Given the description of an element on the screen output the (x, y) to click on. 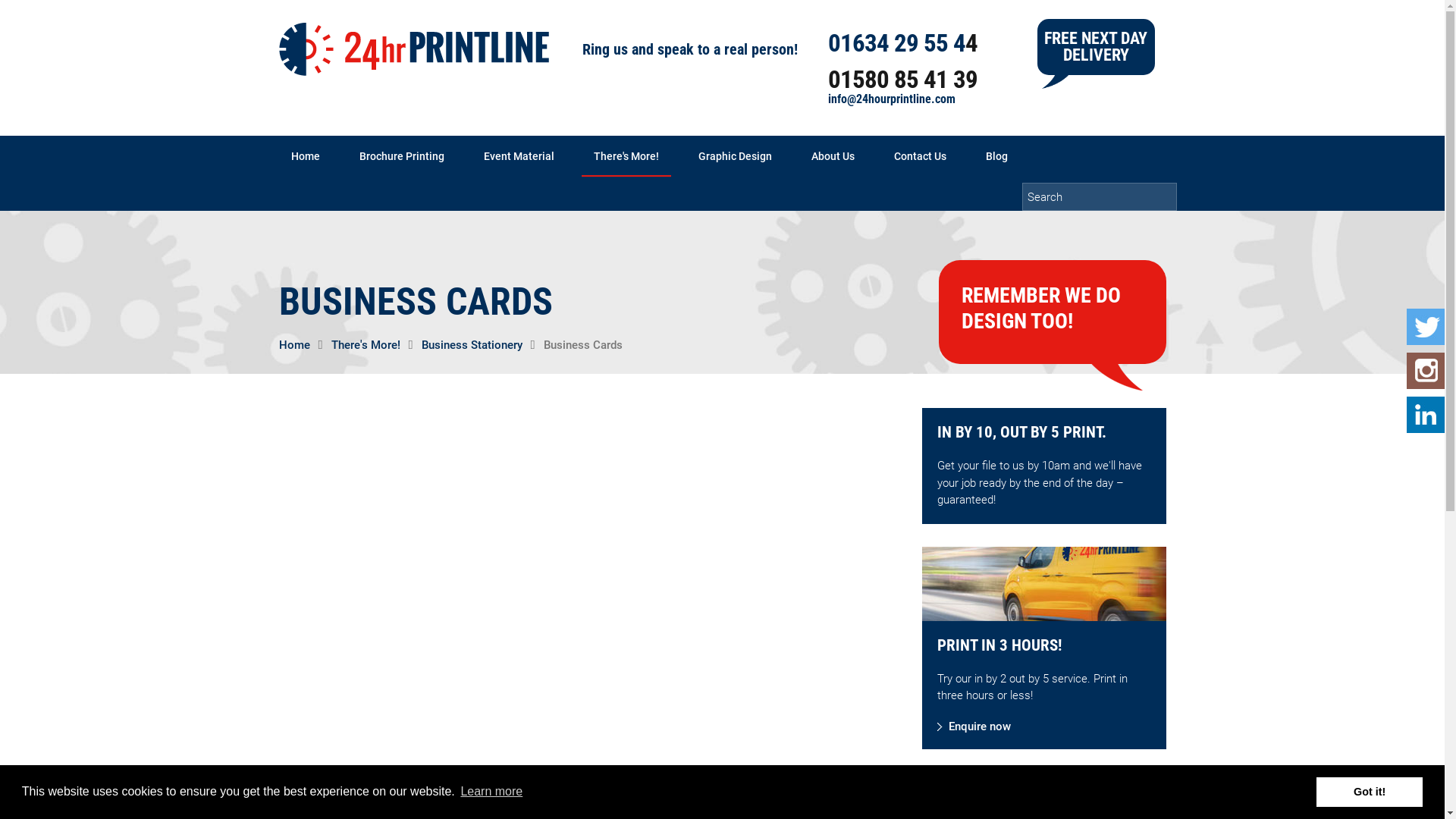
Learn more Element type: text (491, 791)
Graphic Design Element type: text (734, 155)
Business Stationery Element type: text (471, 344)
Linkedin Element type: hover (1425, 414)
Home Element type: text (294, 344)
Instagram Element type: hover (1425, 370)
Event Material Element type: text (518, 155)
About Us Element type: text (832, 155)
24 hour Printline Element type: hover (414, 48)
REMEMBER WE DO DESIGN TOO! Element type: text (1040, 307)
Twitter Element type: hover (1425, 326)
Contact Us Element type: text (919, 155)
info@24hourprintline.com Element type: text (891, 98)
Brochure Printing Element type: text (401, 155)
Blog Element type: text (996, 155)
Enquire now Element type: text (973, 726)
Home Element type: text (305, 155)
There's More! Element type: text (625, 155)
There's More! Element type: text (365, 344)
Got it! Element type: text (1369, 791)
01634 29 55 4 Element type: text (896, 42)
